Given the description of an element on the screen output the (x, y) to click on. 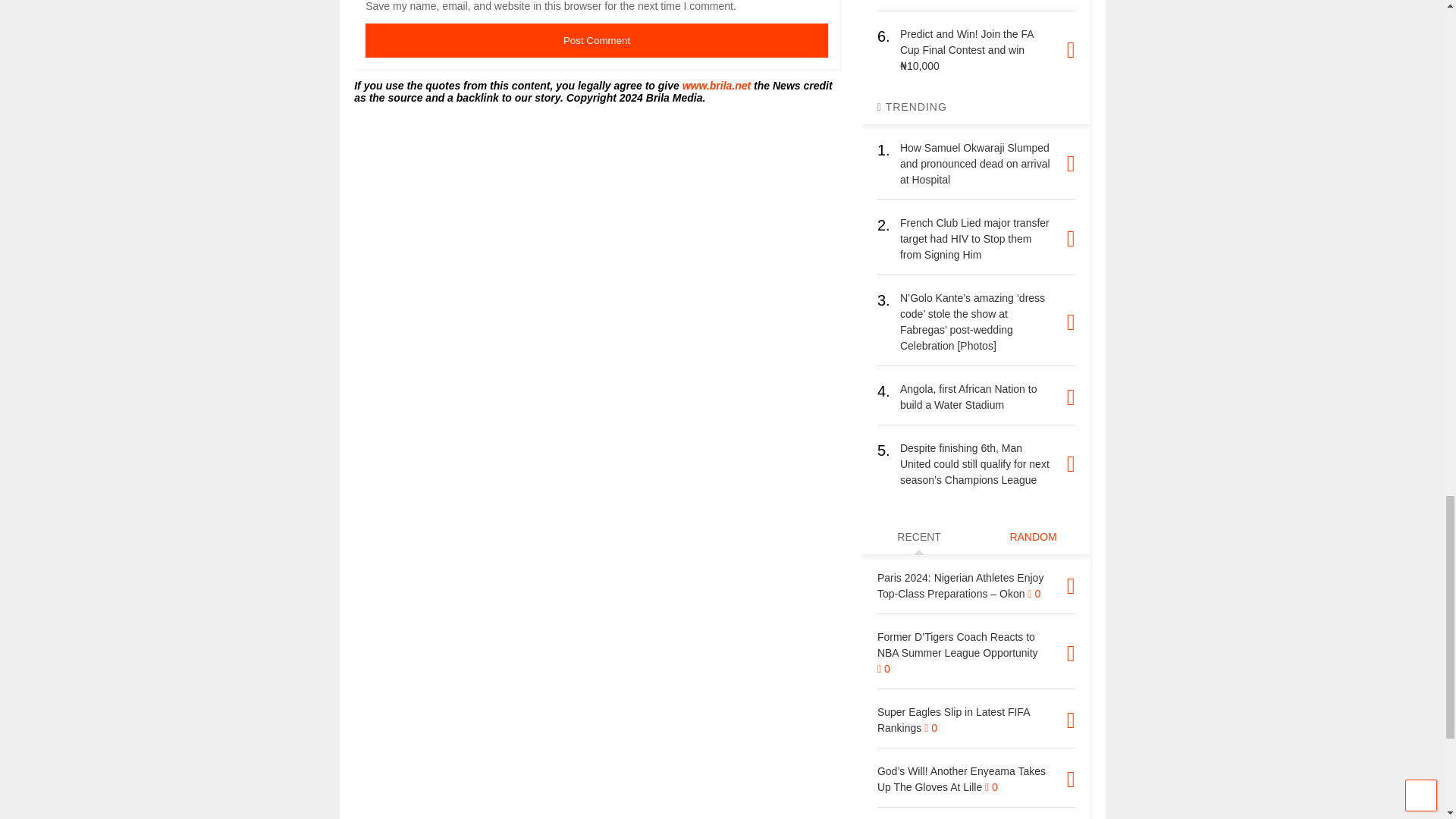
Post Comment (596, 40)
